Given the description of an element on the screen output the (x, y) to click on. 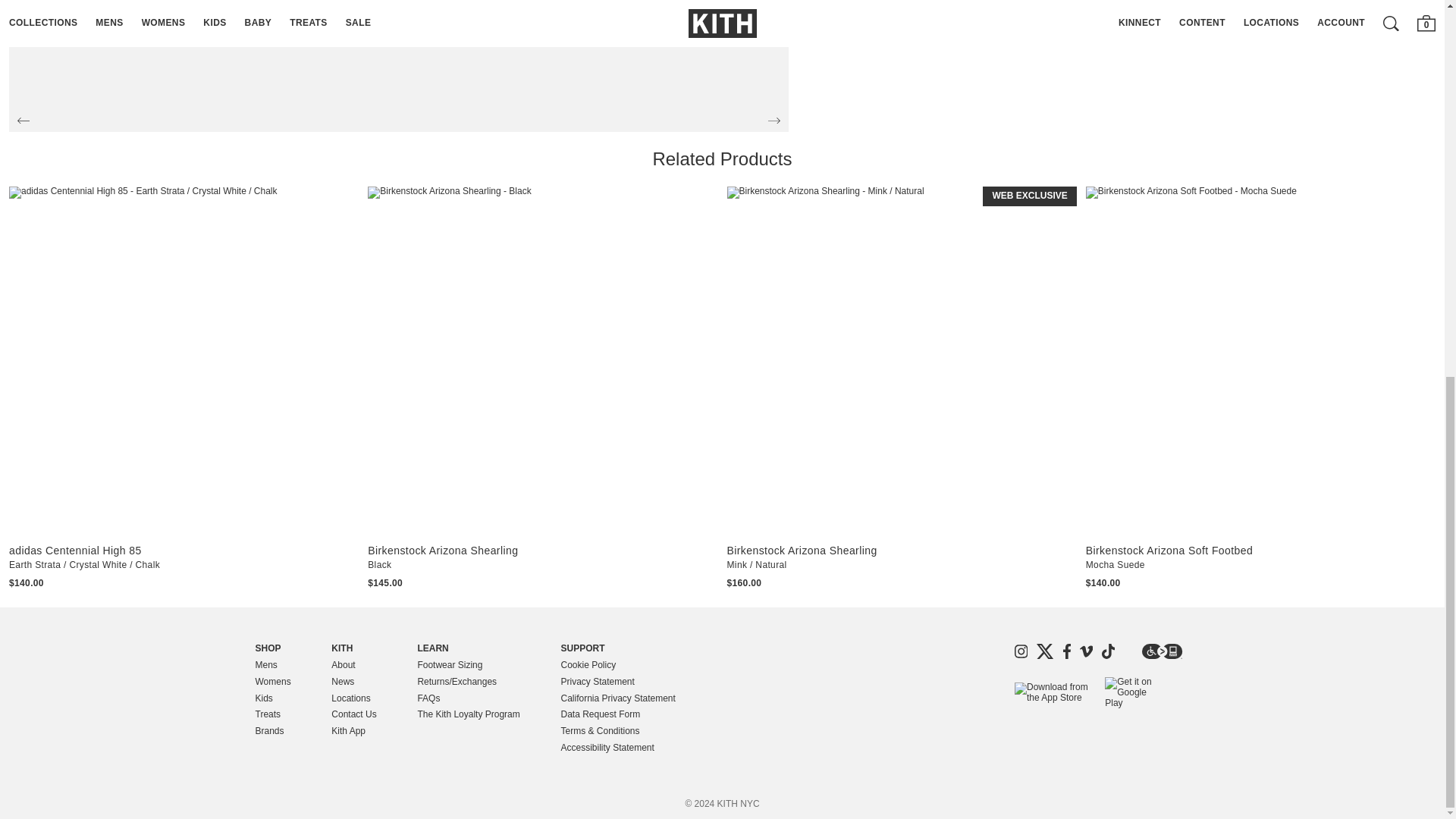
Vimeo (1086, 651)
X (1044, 651)
X (1044, 651)
essential Accessibility Icon (1161, 651)
Instagram (1020, 651)
